Given the description of an element on the screen output the (x, y) to click on. 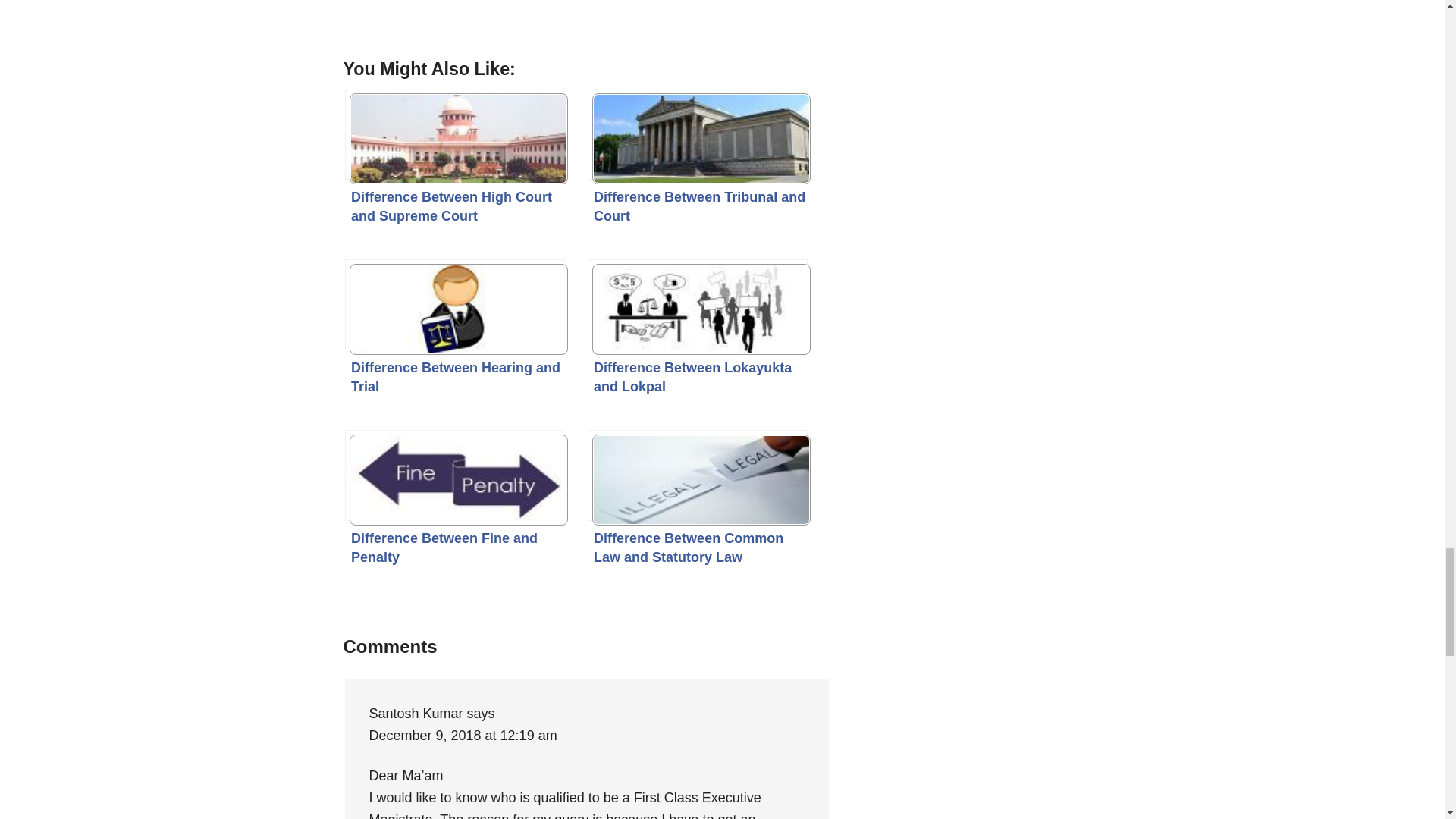
Difference Between Common Law and Statutory Law (698, 474)
Difference Between Tribunal and Court (698, 133)
Difference Between Lokayukta and Lokpal (698, 304)
Difference Between Fine and Penalty (454, 474)
Difference Between Hearing and Trial (454, 304)
Difference Between Tribunal and Court (698, 133)
Difference Between High Court and Supreme Court (454, 133)
Difference Between Common Law and Statutory Law (698, 474)
Difference Between Hearing and Trial (454, 304)
Difference Between High Court and Supreme Court (454, 133)
